Given the description of an element on the screen output the (x, y) to click on. 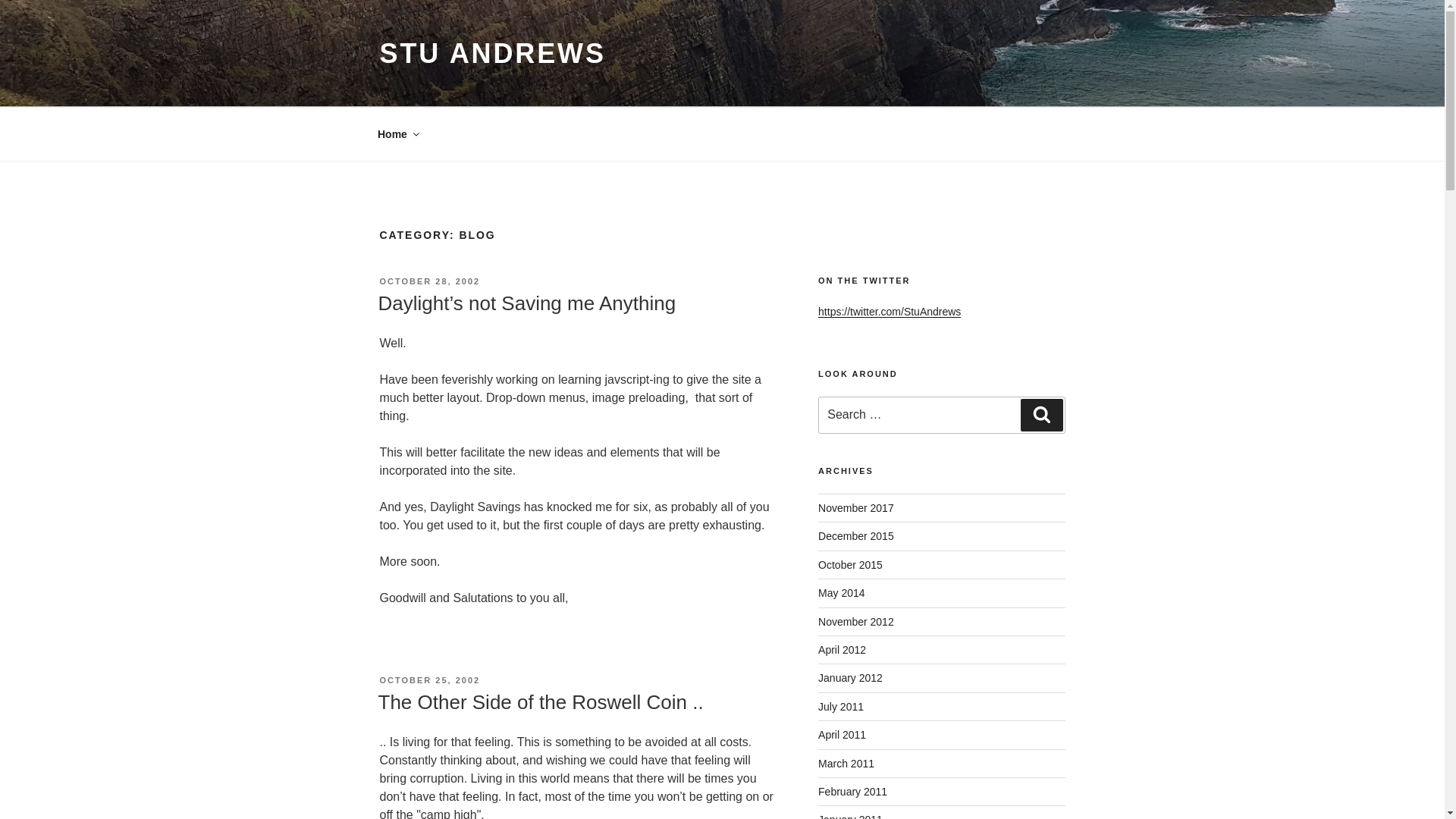
OCTOBER 28, 2002 (429, 280)
April 2012 (842, 649)
April 2011 (842, 734)
Home (397, 133)
January 2012 (850, 677)
October 2015 (850, 564)
Search (1041, 414)
December 2015 (855, 535)
STU ANDREWS (491, 52)
July 2011 (840, 706)
May 2014 (841, 592)
November 2012 (855, 621)
March 2011 (846, 763)
OCTOBER 25, 2002 (429, 679)
The Other Side of the Roswell Coin .. (540, 702)
